Given the description of an element on the screen output the (x, y) to click on. 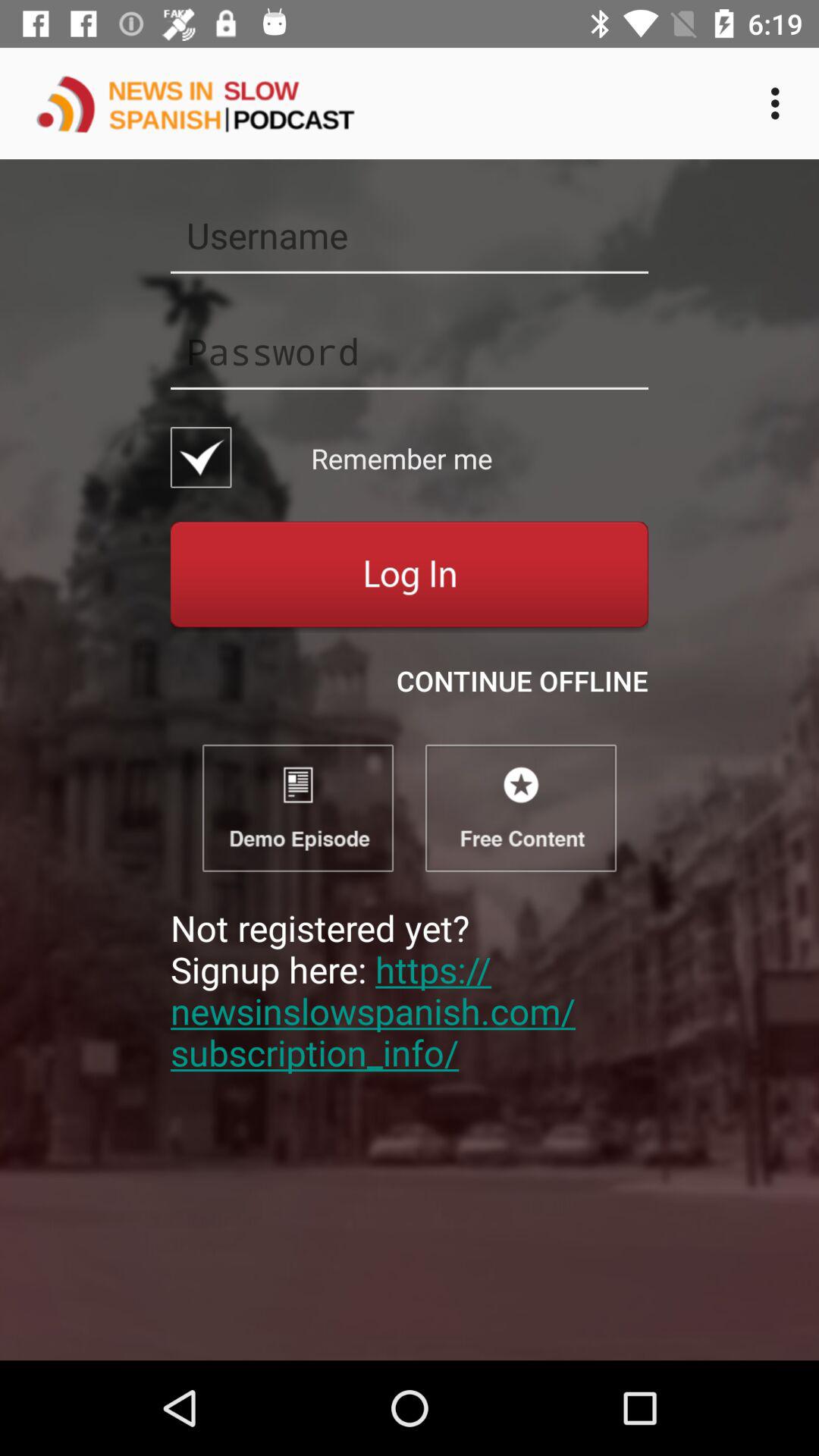
go to favorites (520, 807)
